Given the description of an element on the screen output the (x, y) to click on. 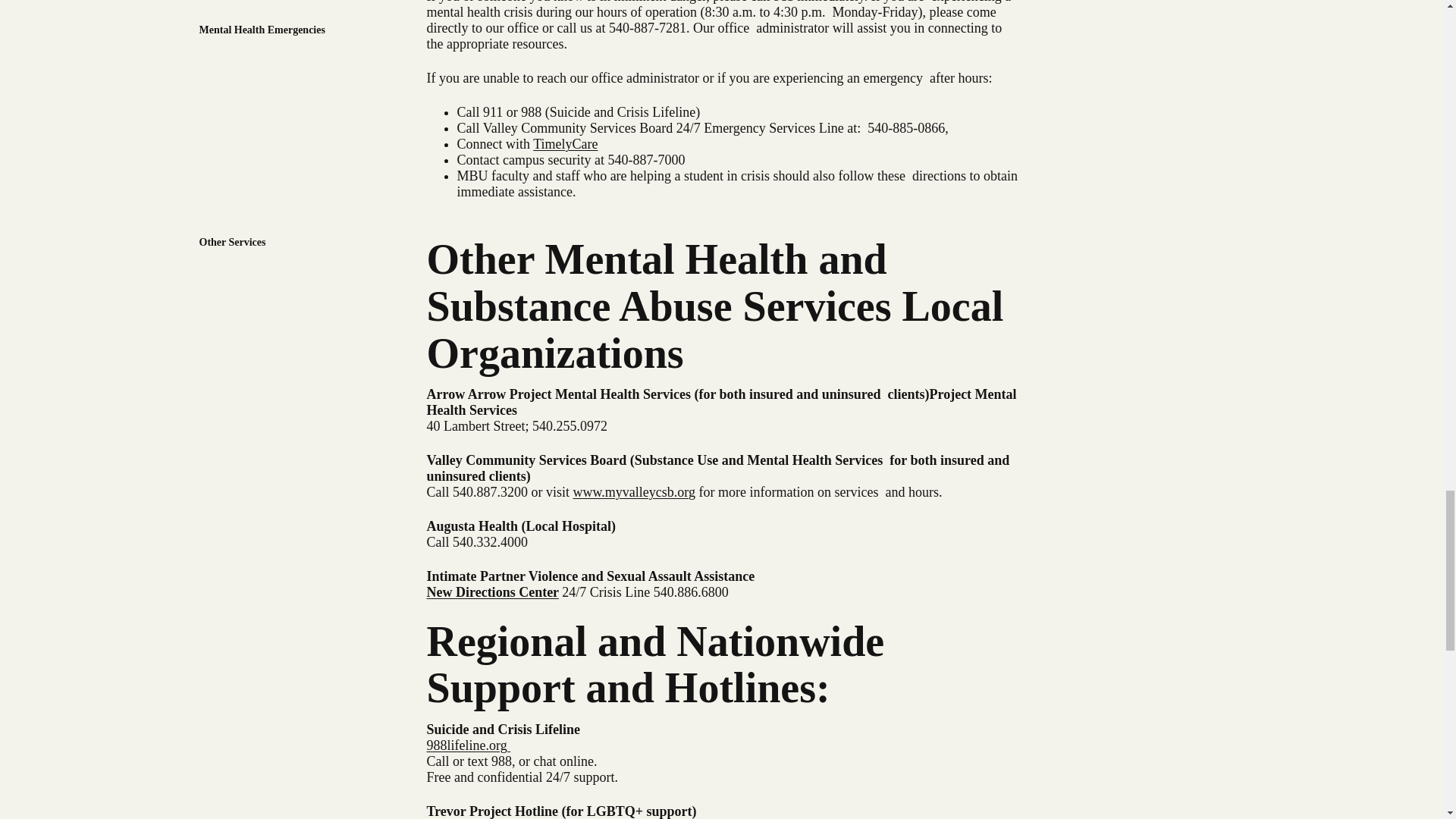
www.myvalleycsb.org (634, 491)
New Directions Center (491, 591)
988lifeline.org  (468, 744)
TimelyCare (564, 143)
